Given the description of an element on the screen output the (x, y) to click on. 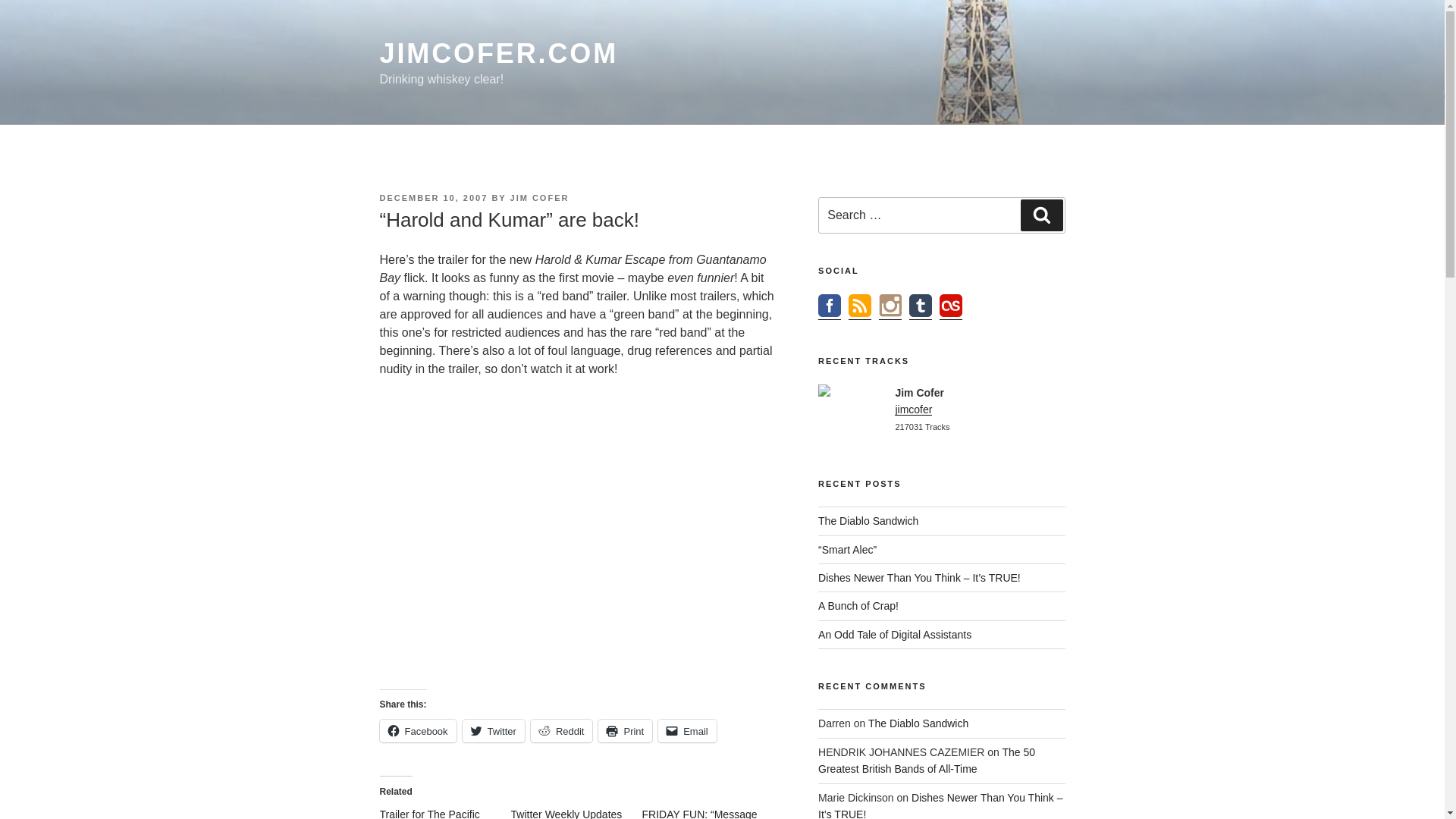
Print (625, 730)
An Odd Tale of Digital Assistants (894, 634)
Click to share on Reddit (561, 730)
Email (687, 730)
The 50 Greatest British Bands of All-Time (926, 760)
Click to print (625, 730)
Search (1041, 214)
JIM COFER (540, 197)
DECEMBER 10, 2007 (432, 197)
Reddit (561, 730)
jimcofer (913, 409)
The Diablo Sandwich (917, 723)
Facebook (416, 730)
Trailer for The Pacific (428, 813)
The Diablo Sandwich (868, 521)
